Given the description of an element on the screen output the (x, y) to click on. 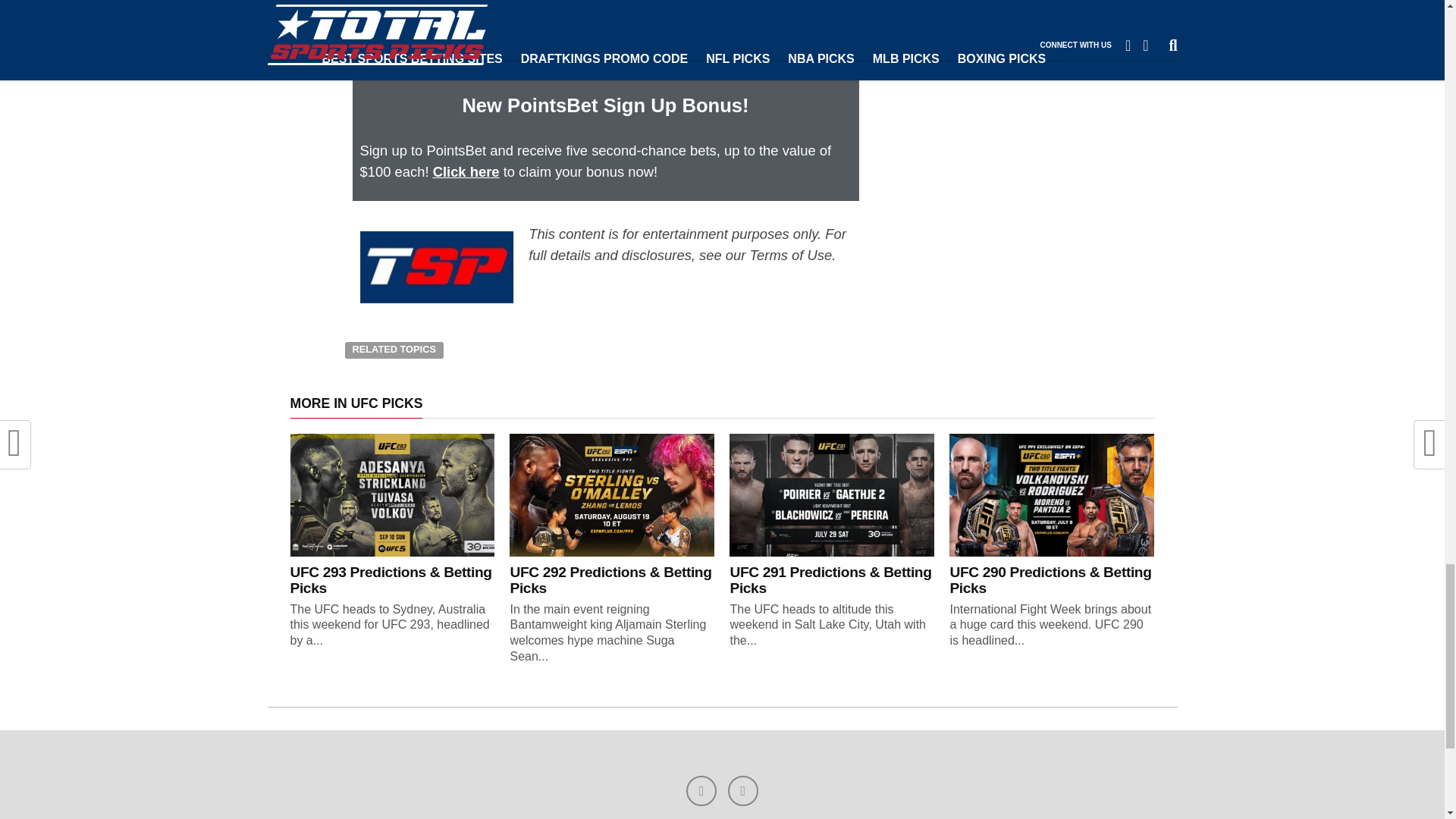
Click here (465, 171)
